Given the description of an element on the screen output the (x, y) to click on. 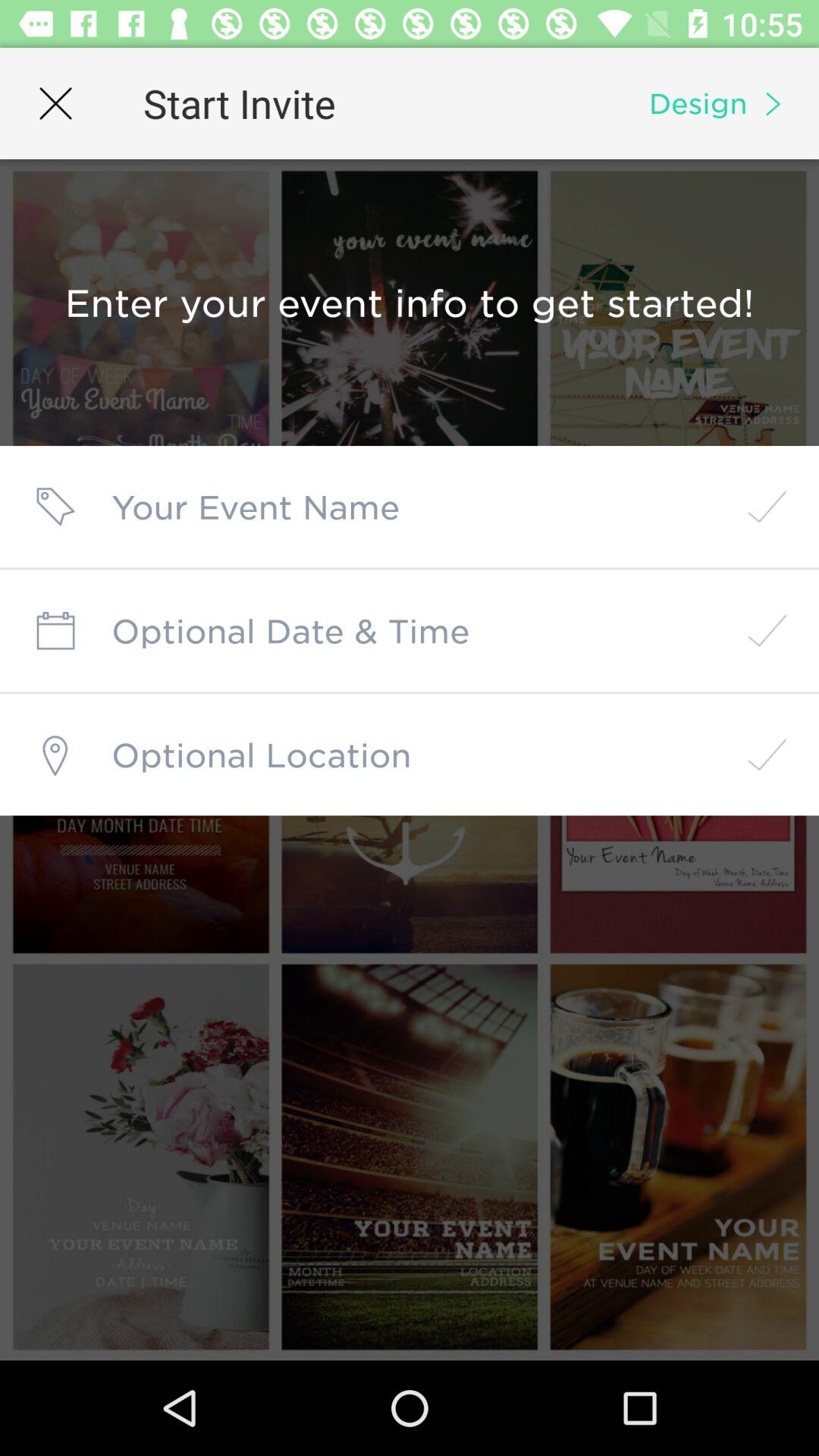
go to the event (409, 506)
